Given the description of an element on the screen output the (x, y) to click on. 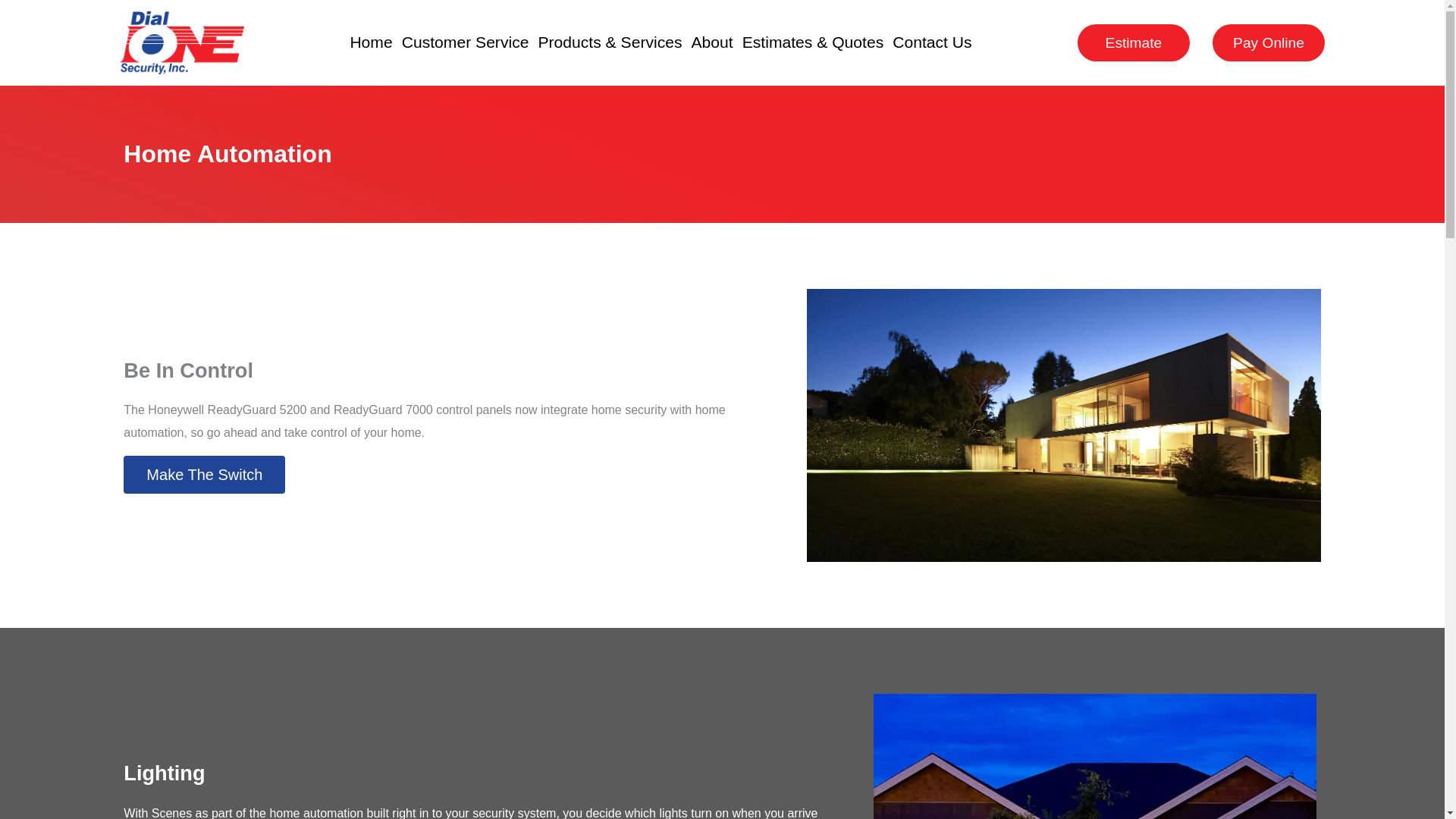
Customer Service (464, 42)
About (711, 42)
Contact Us (931, 42)
Home (371, 42)
